Given the description of an element on the screen output the (x, y) to click on. 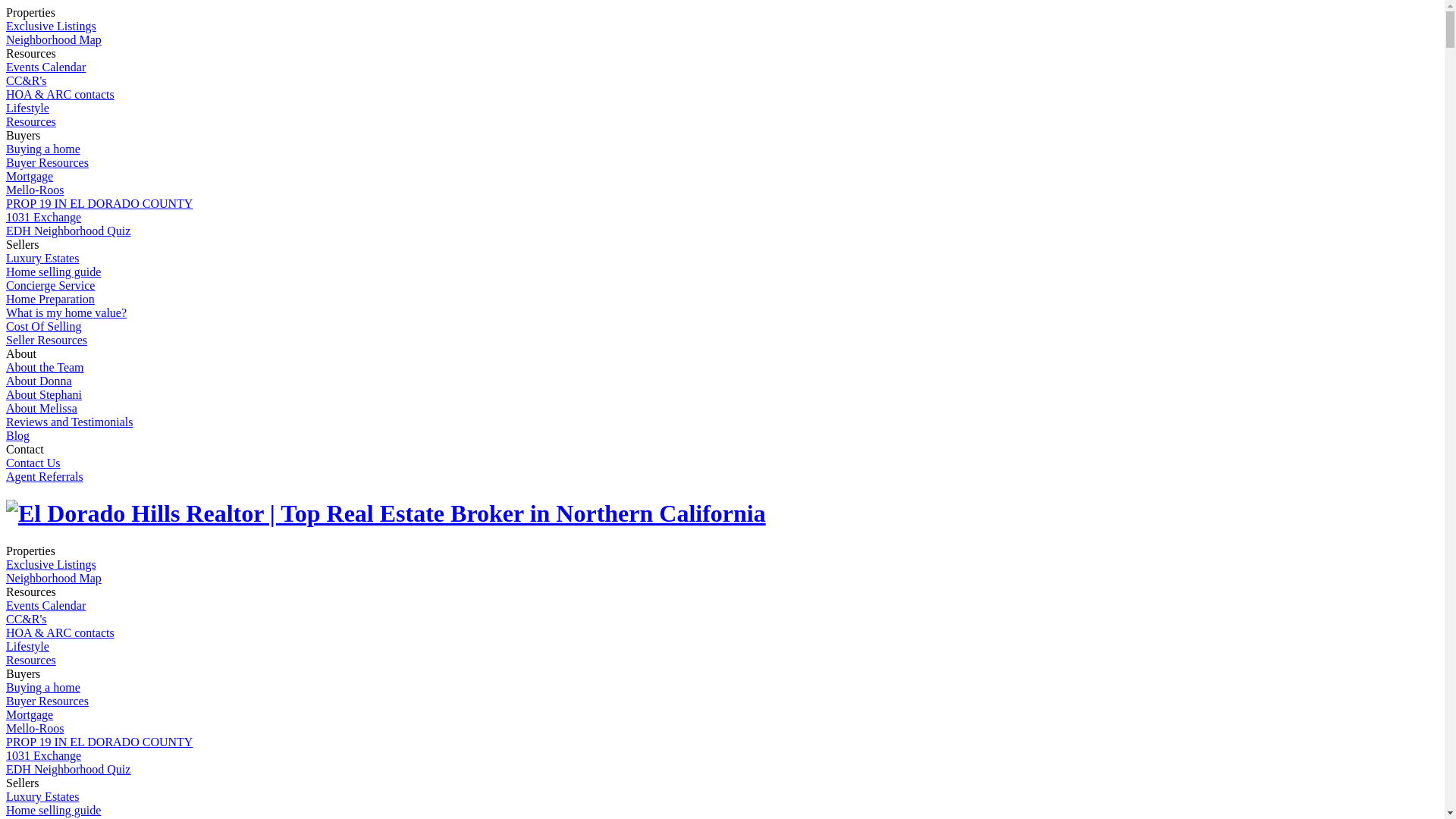
Concierge Service Element type: text (50, 285)
PROP 19 IN EL DORADO COUNTY Element type: text (99, 741)
Cost Of Selling Element type: text (43, 326)
Buyer Resources Element type: text (47, 162)
Neighborhood Map Element type: text (53, 577)
1031 Exchange Element type: text (43, 216)
Exclusive Listings Element type: text (51, 25)
CC&R's Element type: text (26, 618)
Luxury Estates Element type: text (42, 257)
Buying a home Element type: text (43, 148)
Mello-Roos Element type: text (34, 727)
HOA & ARC contacts Element type: text (60, 632)
Resources Element type: text (31, 121)
Exclusive Listings Element type: text (51, 564)
What is my home value? Element type: text (66, 312)
Events Calendar Element type: text (45, 66)
Seller Resources Element type: text (46, 339)
Home Preparation Element type: text (50, 298)
Luxury Estates Element type: text (42, 796)
Blog Element type: text (17, 435)
About Stephani Element type: text (43, 394)
HOA & ARC contacts Element type: text (60, 93)
Neighborhood Map Element type: text (53, 39)
Home selling guide Element type: text (53, 271)
Reviews and Testimonials Element type: text (69, 421)
1031 Exchange Element type: text (43, 755)
About the Team Element type: text (45, 366)
Resources Element type: text (31, 659)
Buying a home Element type: text (43, 686)
Mortgage Element type: text (29, 714)
EDH Neighborhood Quiz Element type: text (68, 768)
About Melissa Element type: text (41, 407)
Home selling guide Element type: text (53, 809)
Buyer Resources Element type: text (47, 700)
Contact Us Element type: text (33, 462)
Lifestyle Element type: text (27, 107)
Mortgage Element type: text (29, 175)
Lifestyle Element type: text (27, 646)
Mello-Roos Element type: text (34, 189)
Agent Referrals Element type: text (44, 476)
PROP 19 IN EL DORADO COUNTY Element type: text (99, 203)
About Donna Element type: text (39, 380)
EDH Neighborhood Quiz Element type: text (68, 230)
Events Calendar Element type: text (45, 605)
CC&R's Element type: text (26, 80)
